Given the description of an element on the screen output the (x, y) to click on. 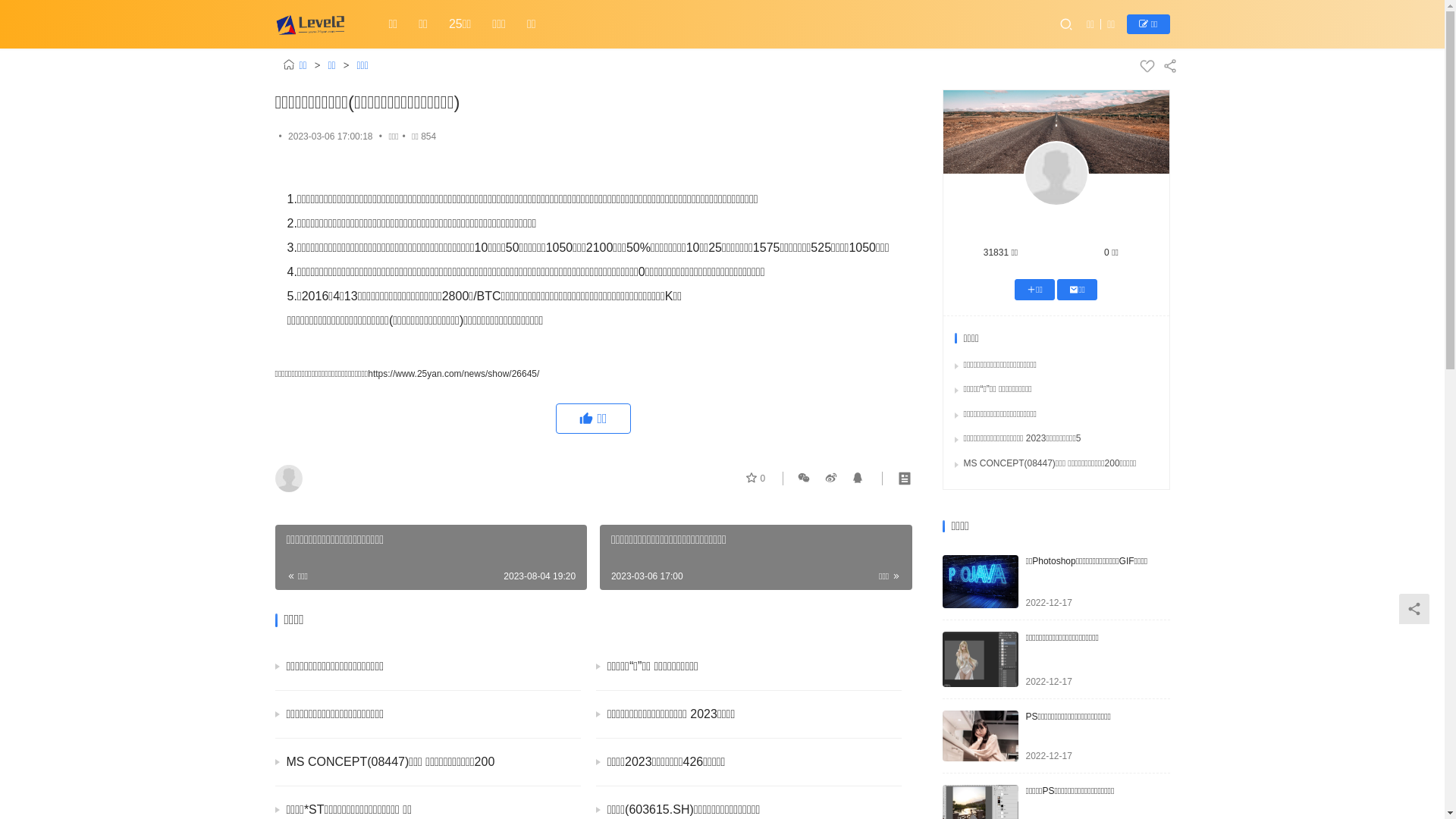
0 Element type: text (755, 478)
